Given the description of an element on the screen output the (x, y) to click on. 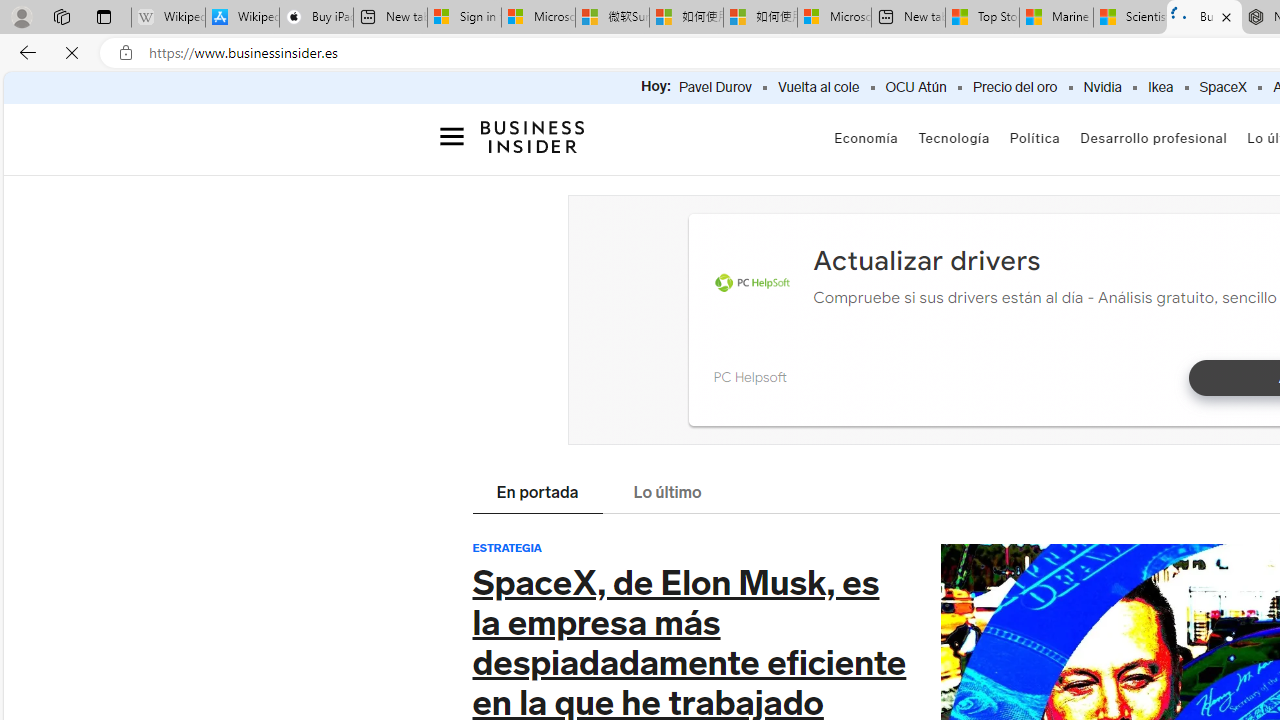
Ikea (1159, 88)
Actualizar drivers (925, 260)
Nvidia (1102, 88)
Vuelta al cole (818, 88)
SpaceX (1222, 88)
Desarrollo profesional (1153, 139)
Pavel Durov (715, 88)
Precio del oro (1014, 88)
Marine life - MSN (1056, 17)
Logo BusinessInsider.es (532, 142)
